Given the description of an element on the screen output the (x, y) to click on. 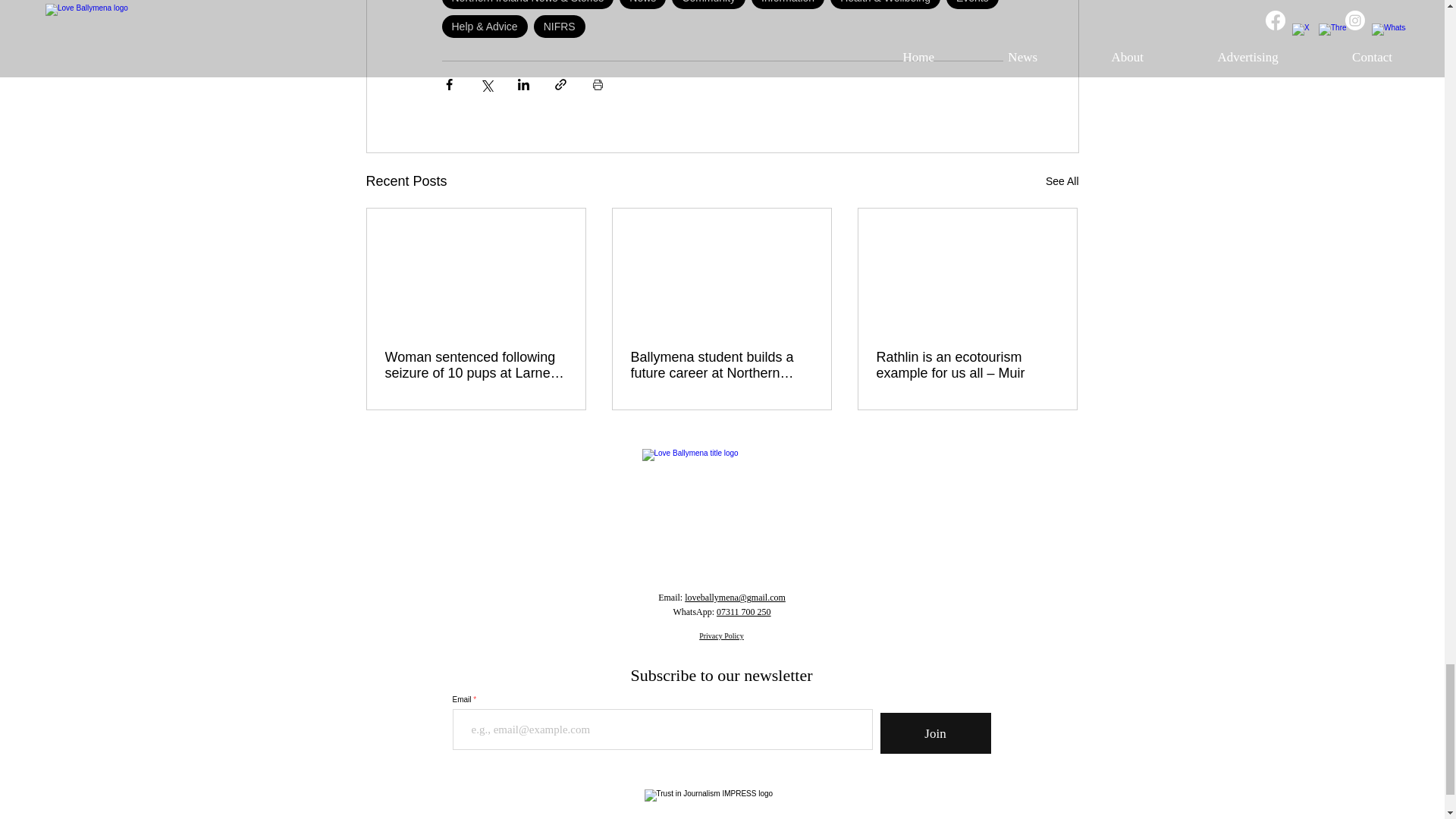
Community (708, 4)
News (642, 4)
Information (787, 4)
